Given the description of an element on the screen output the (x, y) to click on. 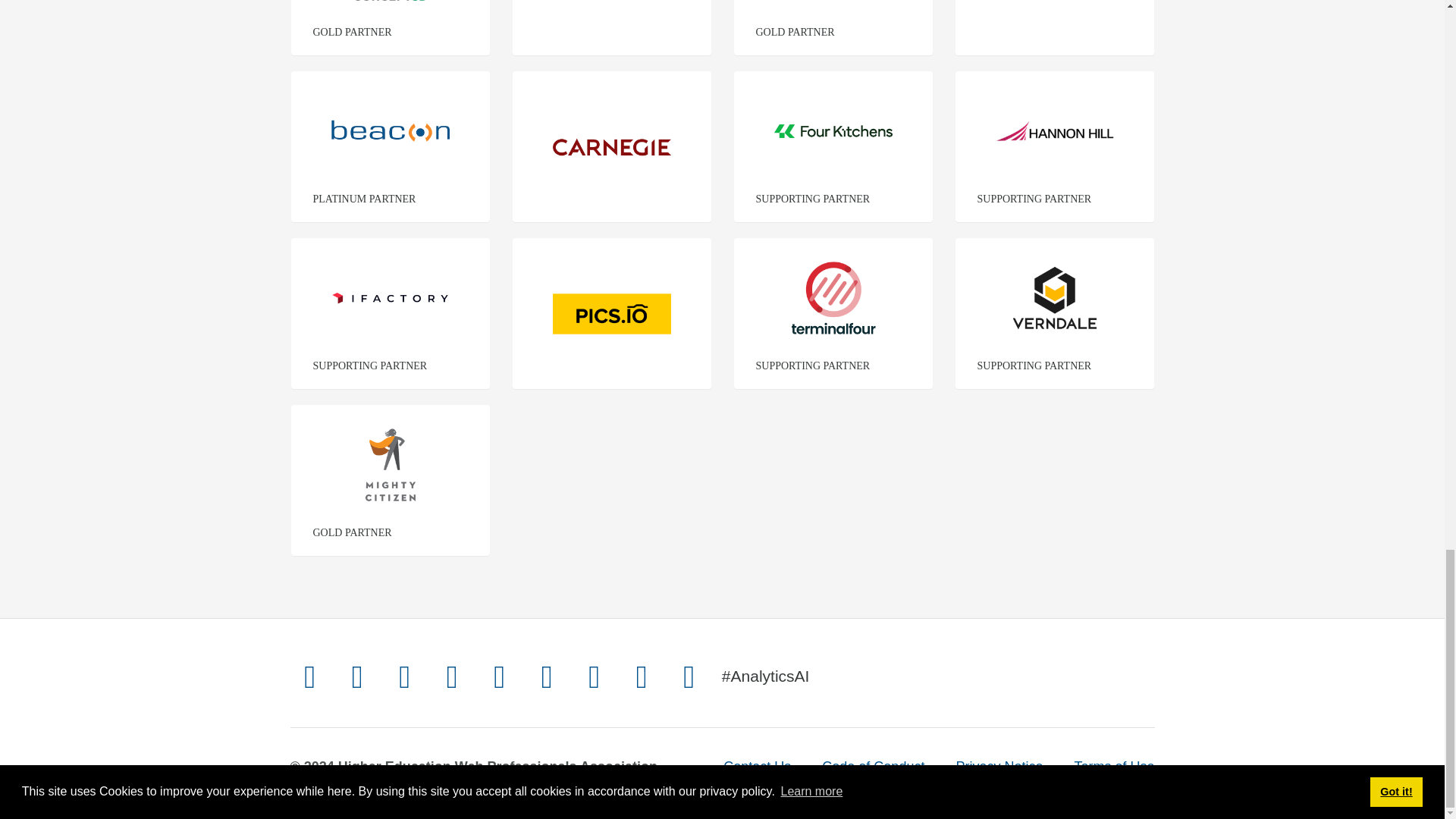
Twitter (309, 675)
